Given the description of an element on the screen output the (x, y) to click on. 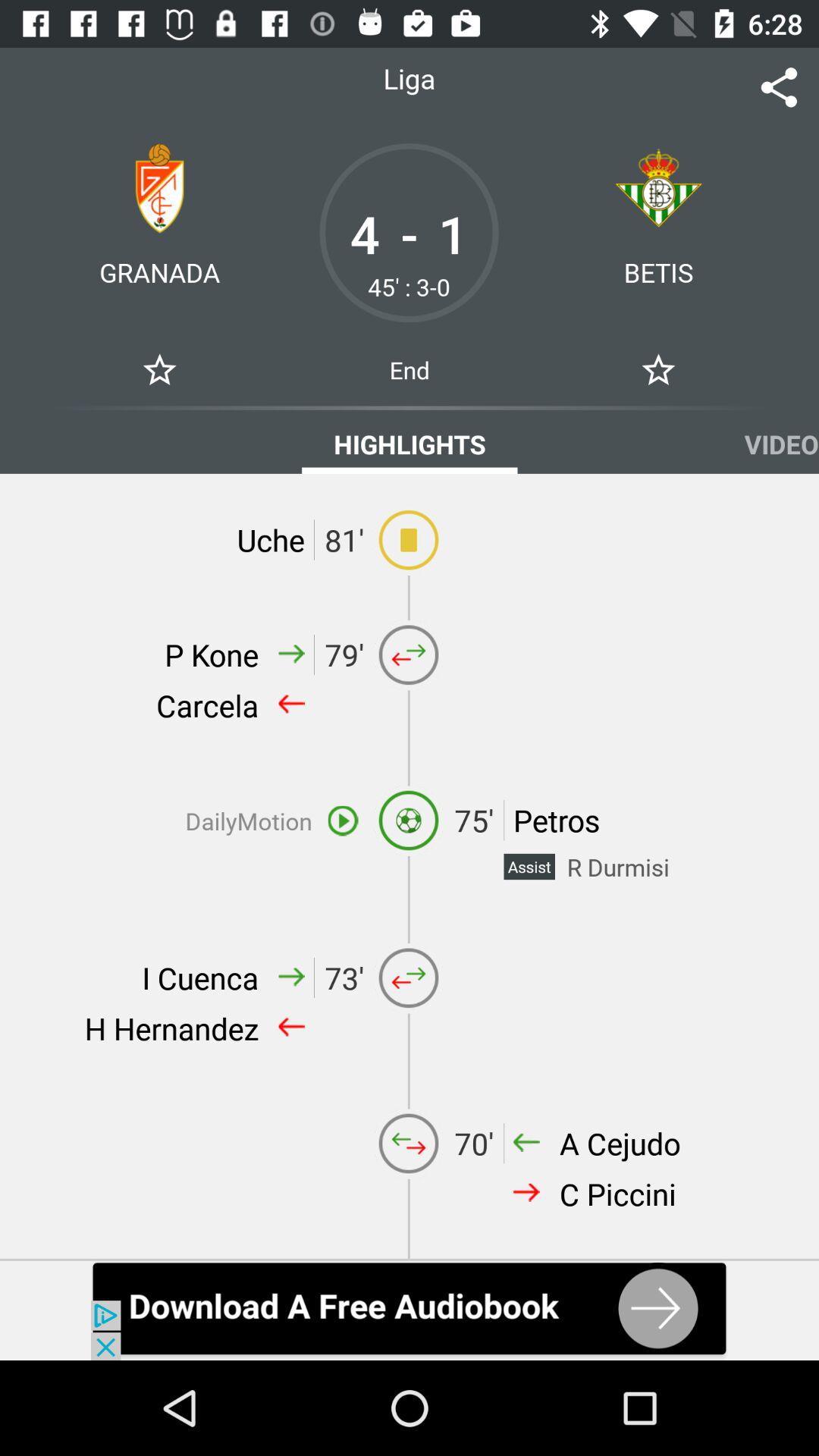
tap to share (779, 87)
